Given the description of an element on the screen output the (x, y) to click on. 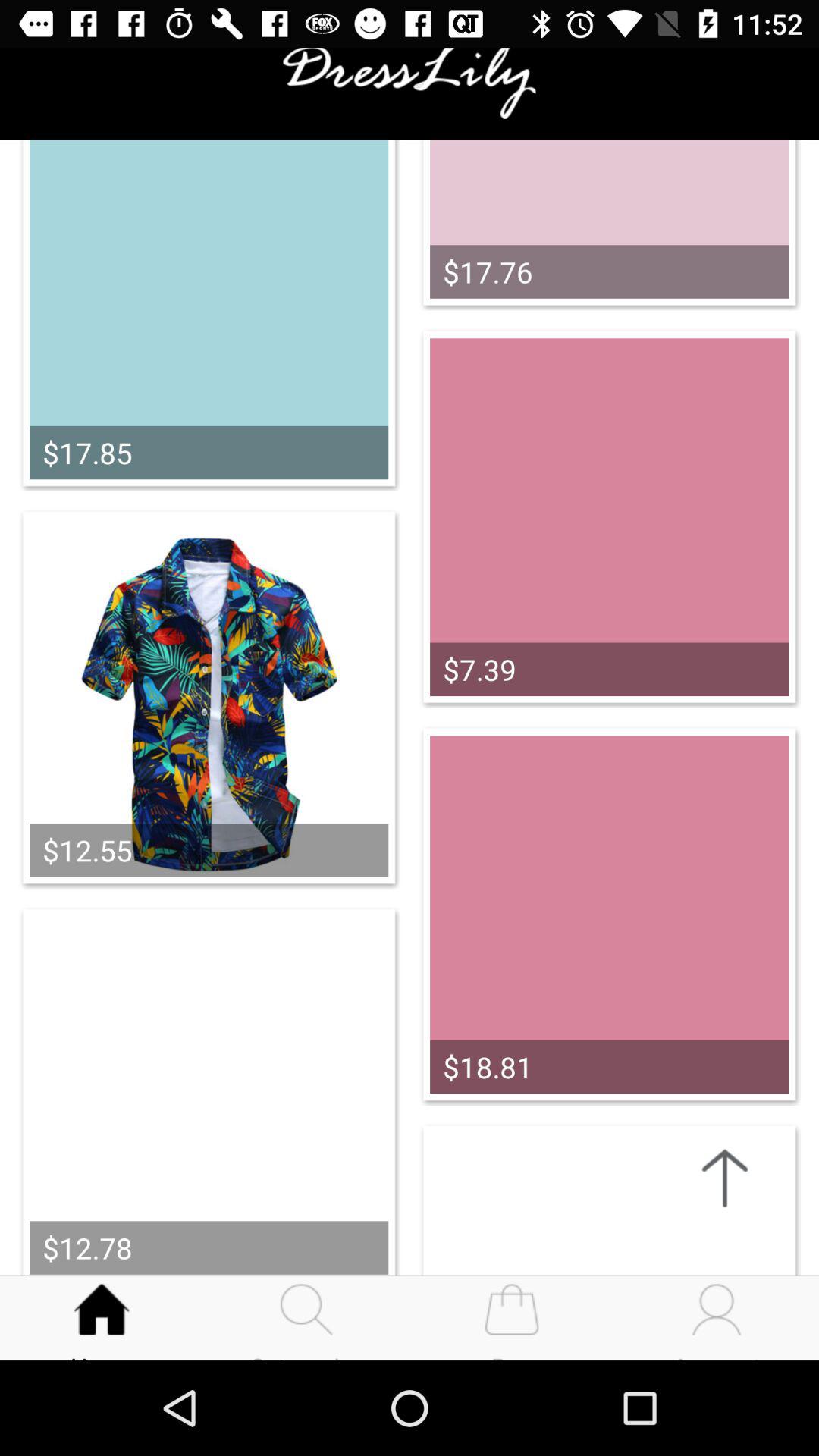
select the third icon on bottom (511, 1302)
select the image which is above shirt image (208, 318)
select the search icon at bottom of the page (306, 1302)
